Given the description of an element on the screen output the (x, y) to click on. 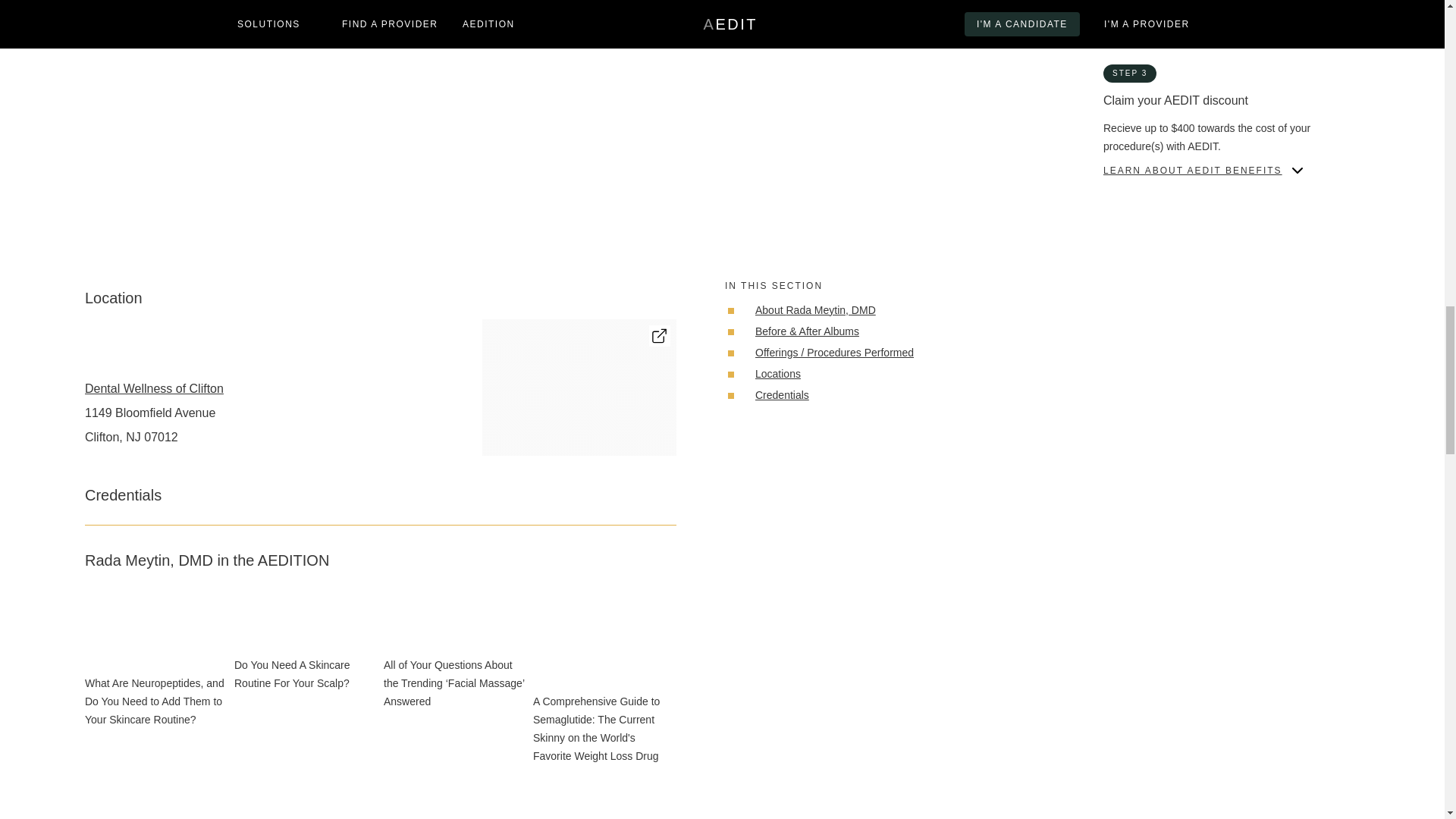
READ OUR TERMS AND CANCELLATION POLICY. (1218, 225)
Dental Wellness of Clifton (154, 388)
